Given the description of an element on the screen output the (x, y) to click on. 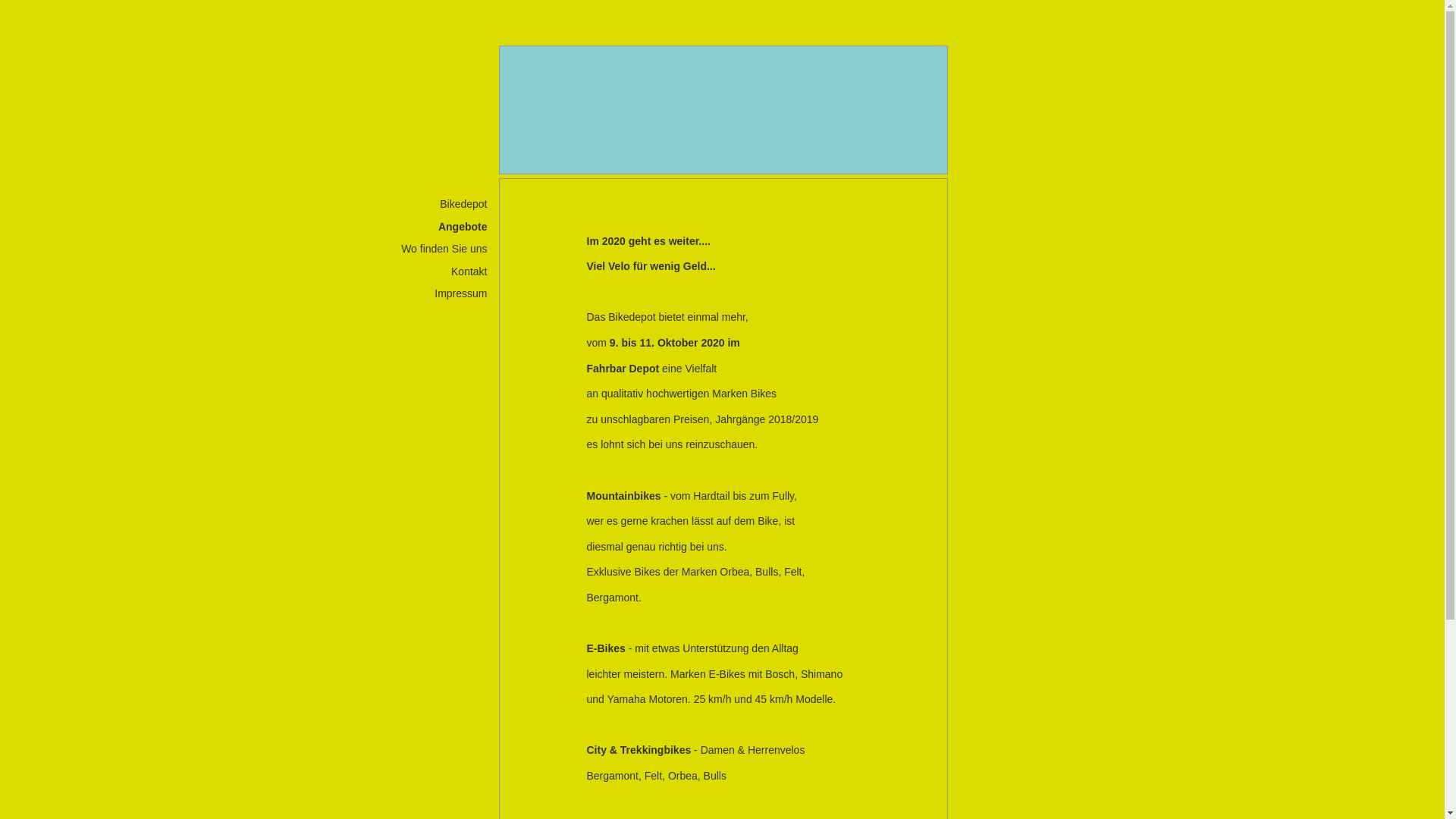
Bikedepot Element type: text (422, 204)
Wo finden Sie uns Element type: text (422, 249)
Impressum Element type: text (422, 293)
Angebote Element type: text (422, 227)
Kontakt Element type: text (422, 271)
